Given the description of an element on the screen output the (x, y) to click on. 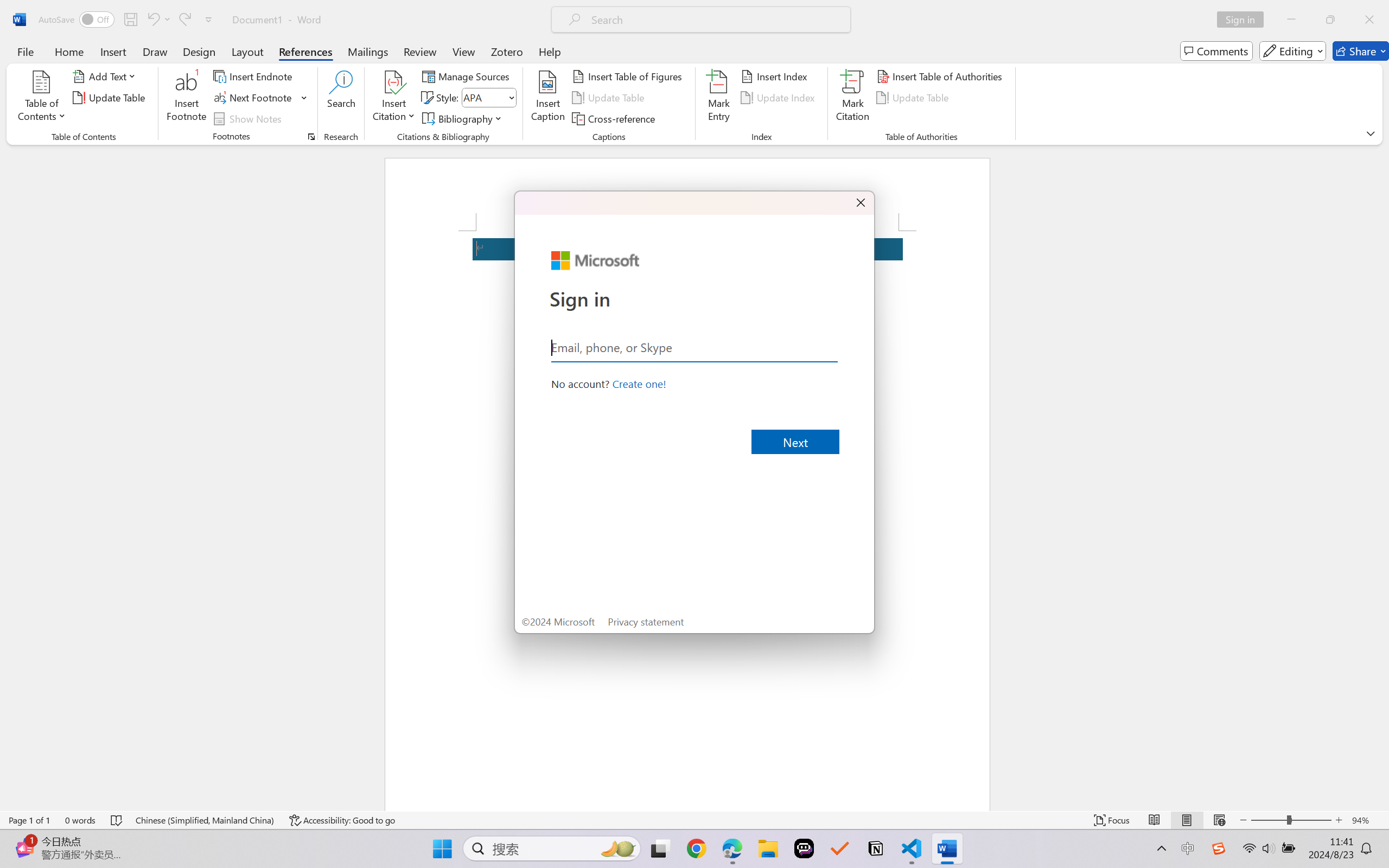
Bibliography (463, 118)
Insert Caption... (547, 97)
